Given the description of an element on the screen output the (x, y) to click on. 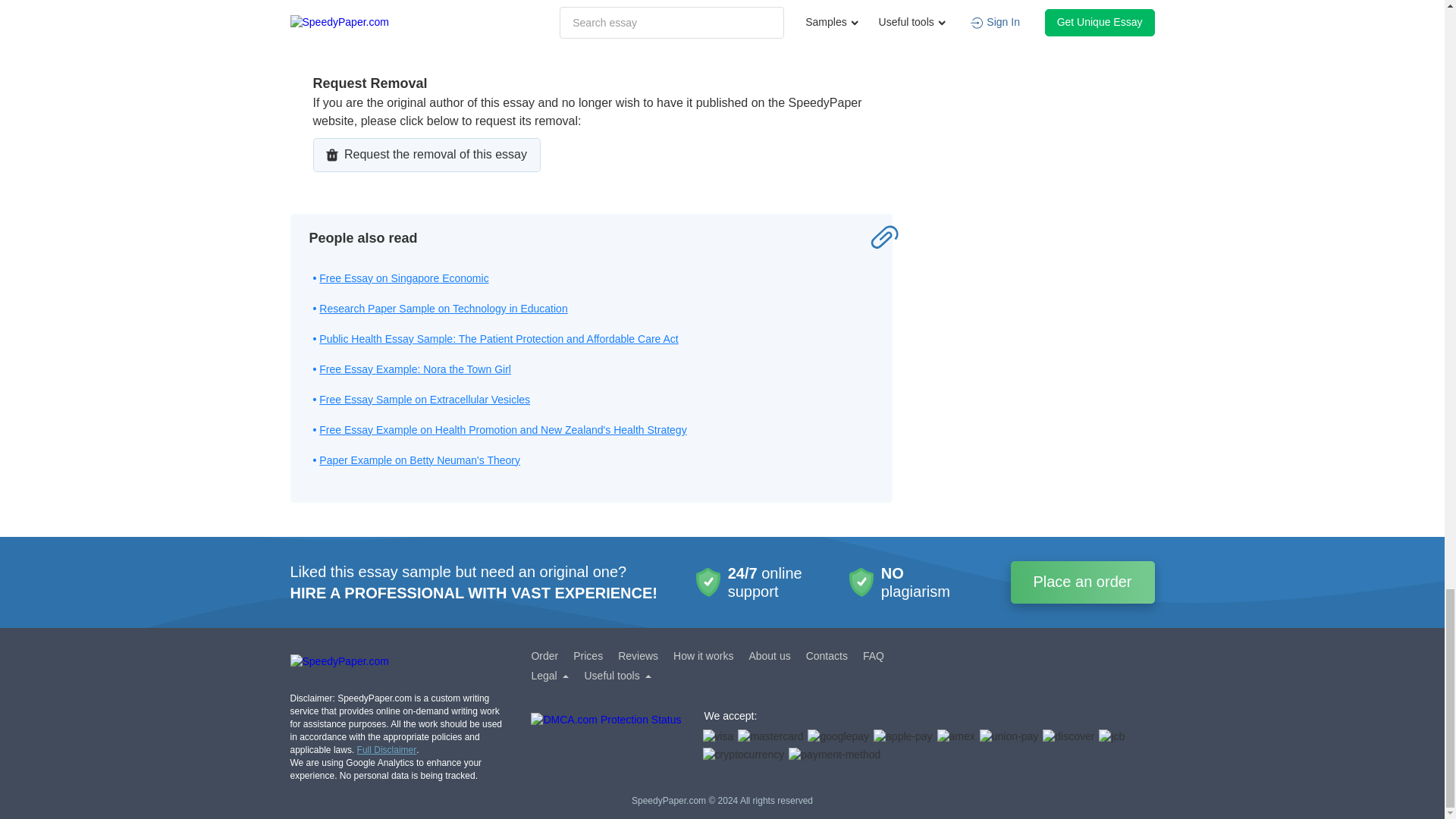
DMCA.com Protection Status (606, 738)
jcb (1111, 736)
discover (1068, 736)
googlepay (838, 736)
payment-method (834, 754)
apple-pay (903, 736)
cryptocurrency (742, 754)
amex (956, 736)
visa (717, 736)
mastercard (770, 736)
